Given the description of an element on the screen output the (x, y) to click on. 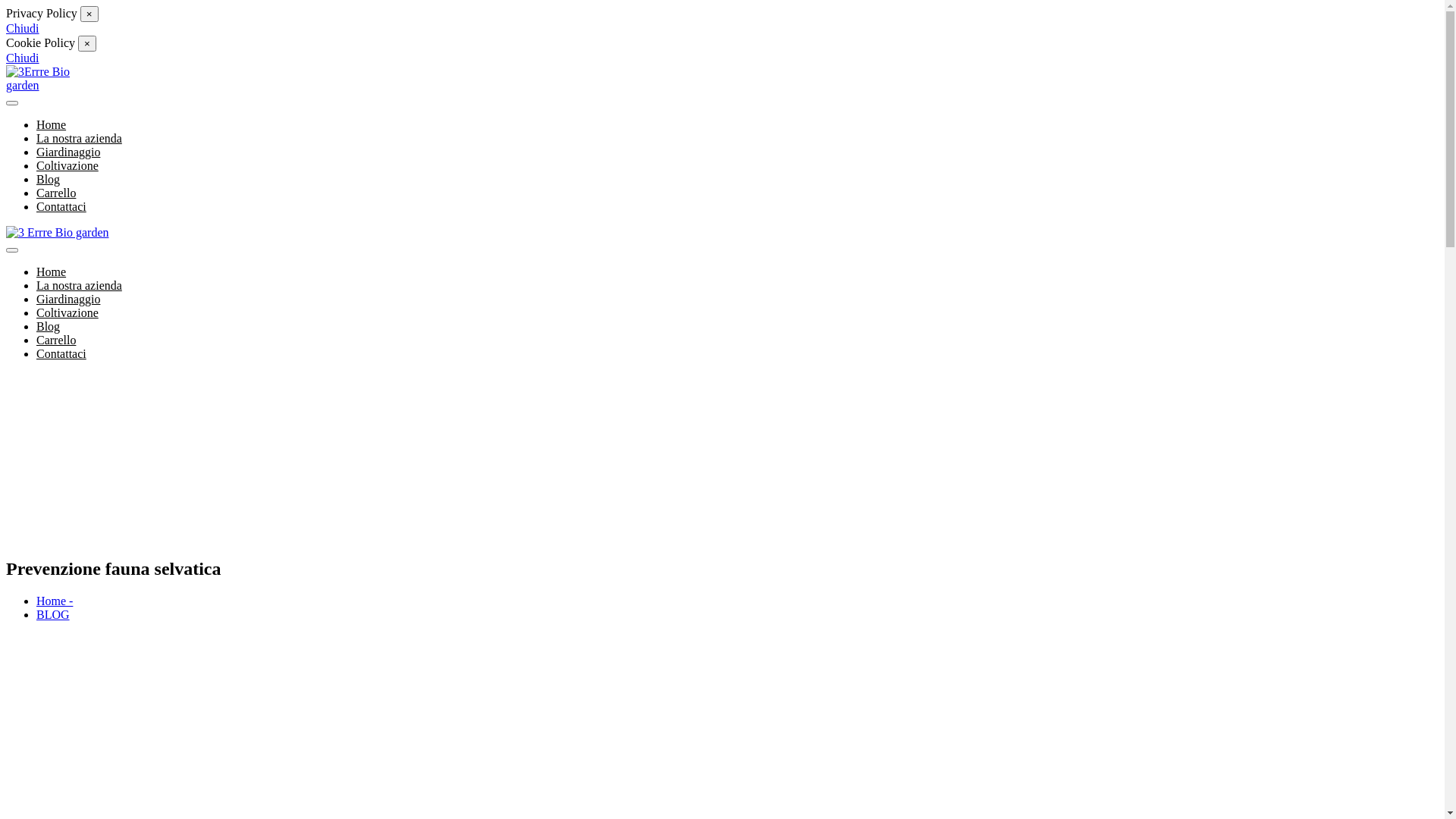
Blog Element type: text (47, 178)
Contattaci Element type: text (61, 353)
3 Errre Bio garden Element type: hover (57, 232)
Giardinaggio Element type: text (68, 151)
Home Element type: text (50, 271)
Coltivazione Element type: text (67, 165)
BLOG Element type: text (52, 614)
Chiudi Element type: text (22, 27)
La nostra azienda Element type: text (79, 137)
Home Element type: text (50, 124)
La nostra azienda Element type: text (79, 285)
Giardinaggio Element type: text (68, 298)
Carrello Element type: text (55, 339)
Chiudi Element type: text (22, 57)
Home - Element type: text (54, 600)
Carrello Element type: text (55, 192)
Coltivazione Element type: text (67, 312)
Blog Element type: text (47, 326)
Contattaci Element type: text (61, 206)
